Given the description of an element on the screen output the (x, y) to click on. 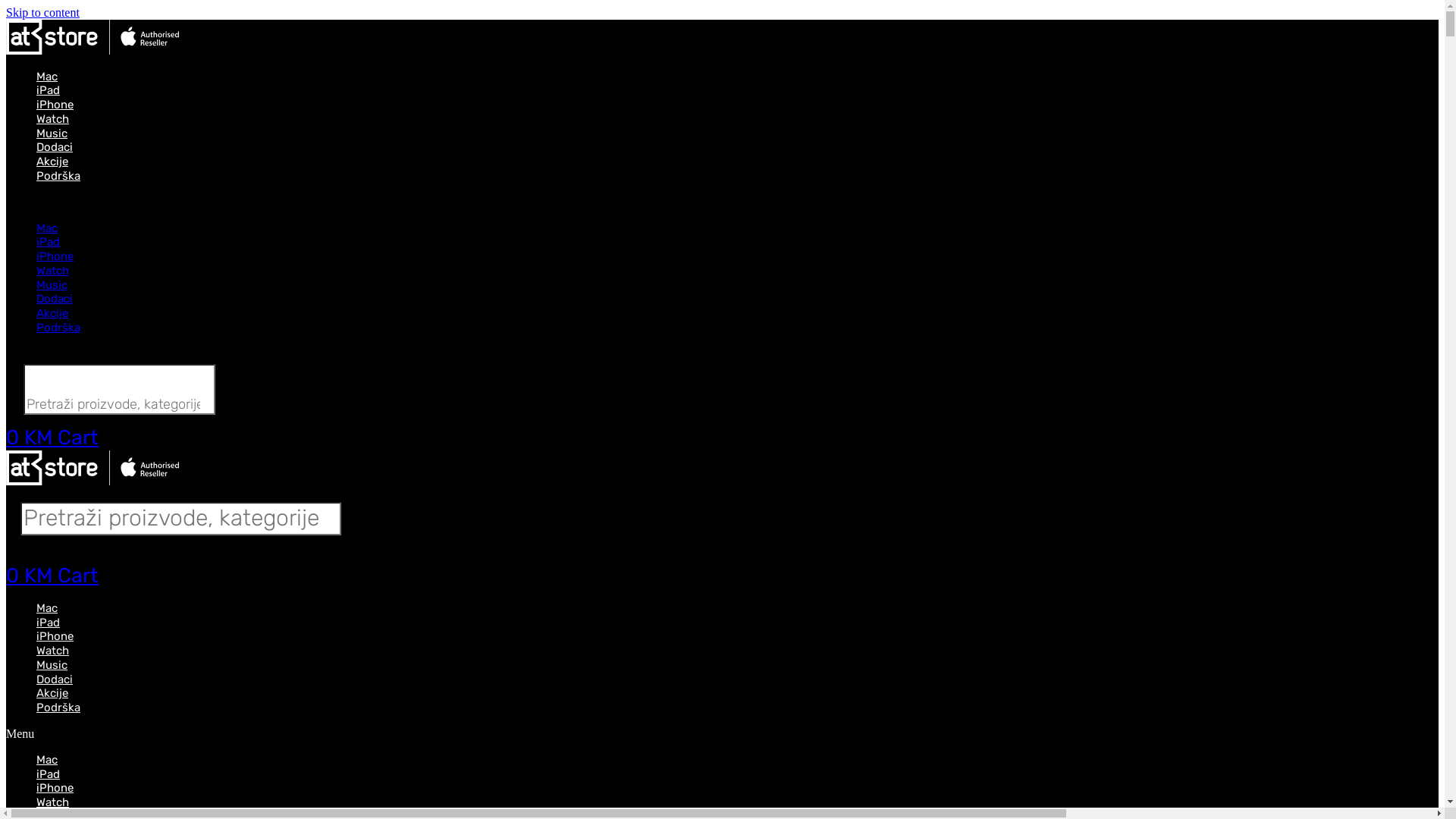
Skip to content Element type: text (42, 12)
0 KM Cart Element type: text (52, 437)
Akcije Element type: text (52, 161)
iPad Element type: text (47, 774)
Mac Element type: text (46, 228)
Mac Element type: text (46, 76)
iPad Element type: text (47, 90)
iPad Element type: text (47, 241)
iPhone Element type: text (54, 636)
iPhone Element type: text (54, 787)
Dodaci Element type: text (54, 298)
Search Element type: hover (119, 389)
Akcije Element type: text (52, 692)
Dodaci Element type: text (54, 678)
Mac Element type: text (46, 608)
Music Element type: text (51, 284)
iPhone Element type: text (54, 256)
iPad Element type: text (47, 622)
0 KM Cart Element type: text (52, 575)
Watch Element type: text (52, 270)
iPhone Element type: text (54, 104)
Mac Element type: text (46, 759)
Music Element type: text (51, 133)
Dodaci Element type: text (54, 146)
Music Element type: text (51, 664)
Watch Element type: text (52, 118)
Watch Element type: text (52, 802)
Akcije Element type: text (52, 313)
Search Element type: hover (180, 518)
Watch Element type: text (52, 650)
